Given the description of an element on the screen output the (x, y) to click on. 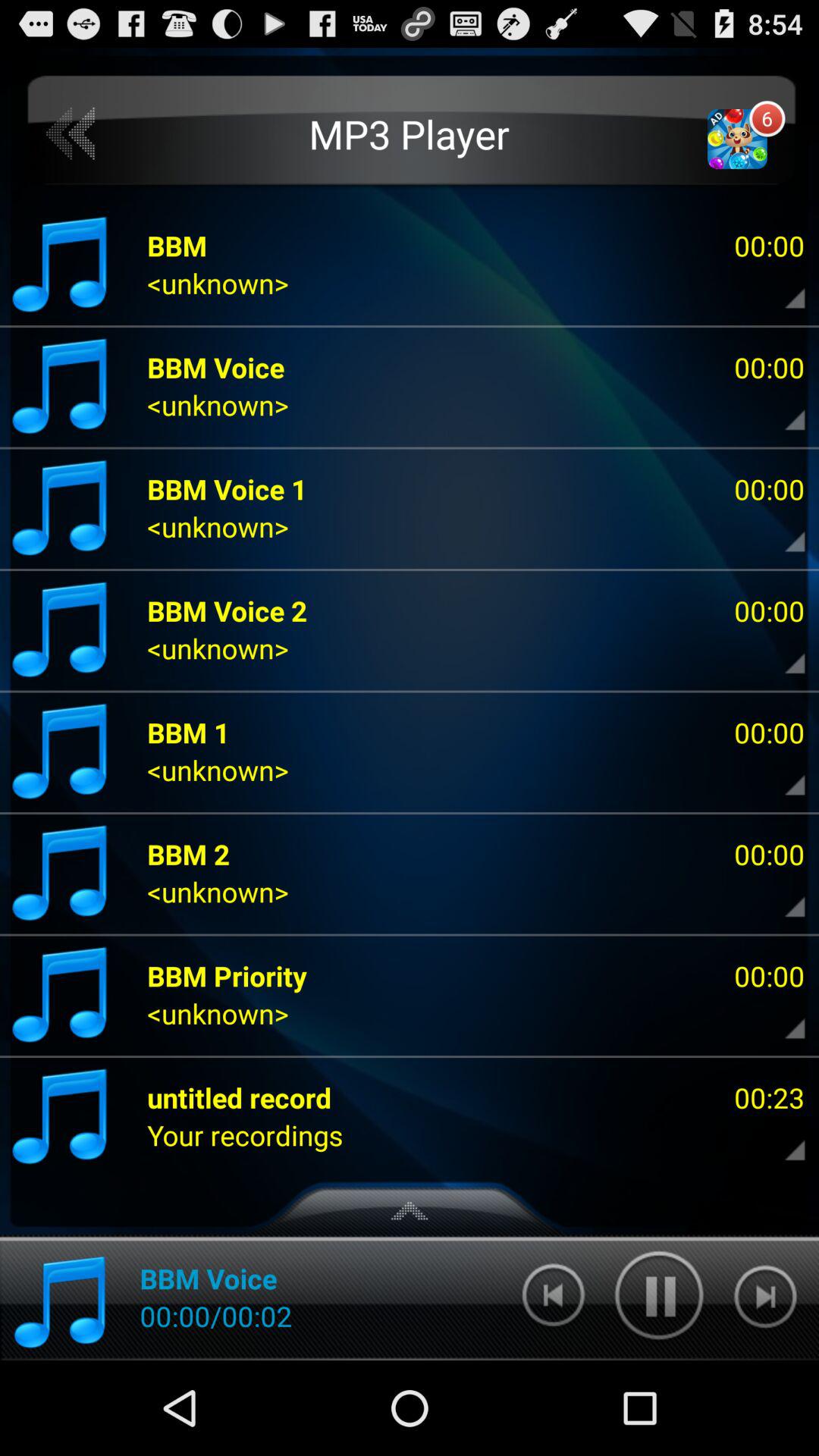
show details (782, 652)
